Given the description of an element on the screen output the (x, y) to click on. 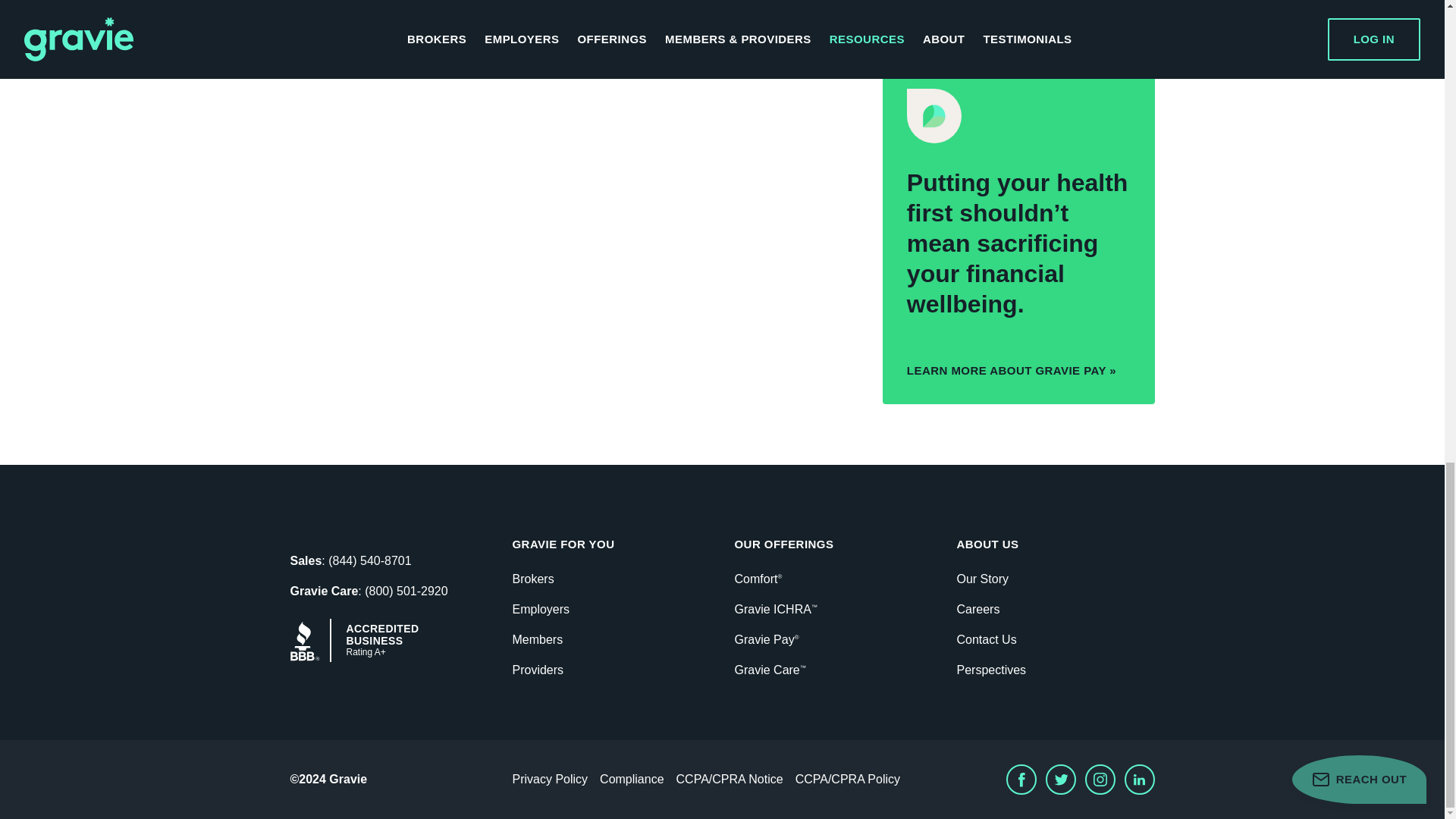
TWITTER (936, 11)
LEARN MORE ABOUT GRAVIE PAY (1011, 369)
LINKEDIN (1015, 11)
INSTAGRAM (975, 11)
FACEBOOK (897, 11)
